Given the description of an element on the screen output the (x, y) to click on. 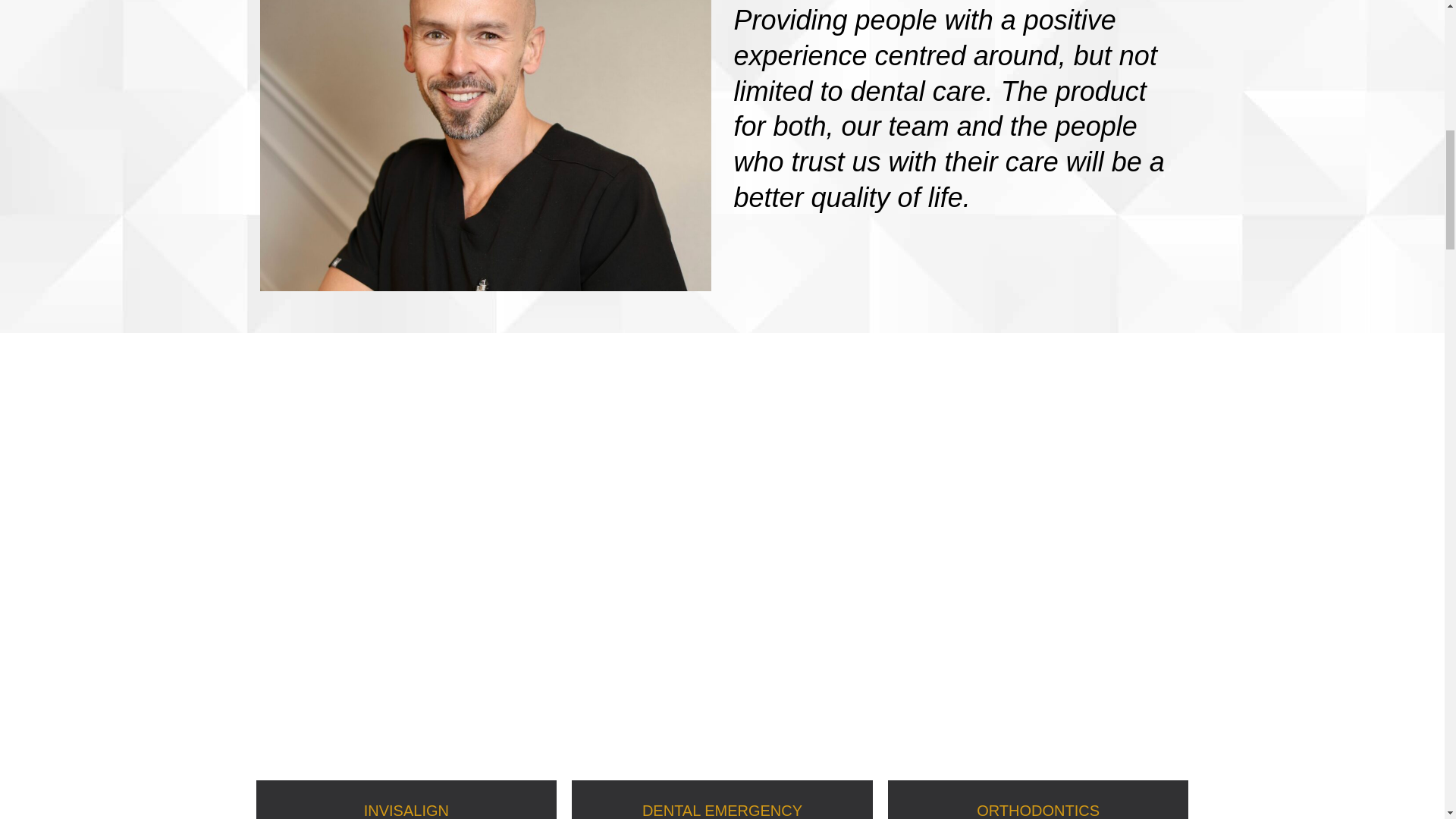
wisdom teeth removal (657, 493)
cosmetic dentistry (943, 436)
